Given the description of an element on the screen output the (x, y) to click on. 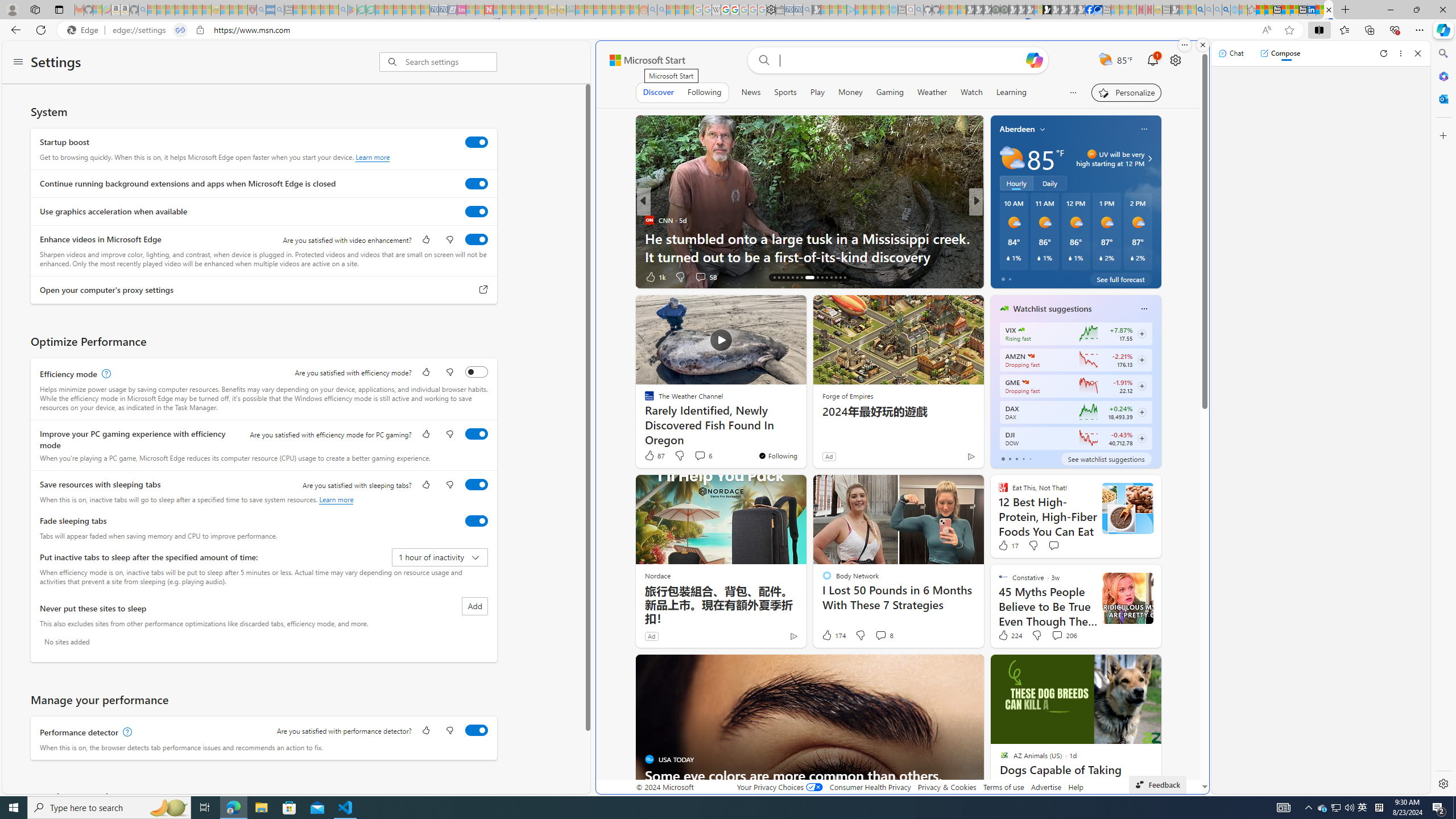
9 Like (1003, 276)
Use graphics acceleration when available (476, 211)
AutomationID: tab-22 (801, 277)
Pets - MSN - Sleeping (324, 9)
Close Customize pane (1442, 135)
Play (816, 92)
MSN - Sleeping (1174, 9)
Consumer Health Privacy (870, 786)
AutomationID: tab-24 (814, 277)
The Weather Channel - MSN - Sleeping (170, 9)
Bing AI - Search (1200, 9)
Terms of Use Agreement - Sleeping (361, 9)
